Given the description of an element on the screen output the (x, y) to click on. 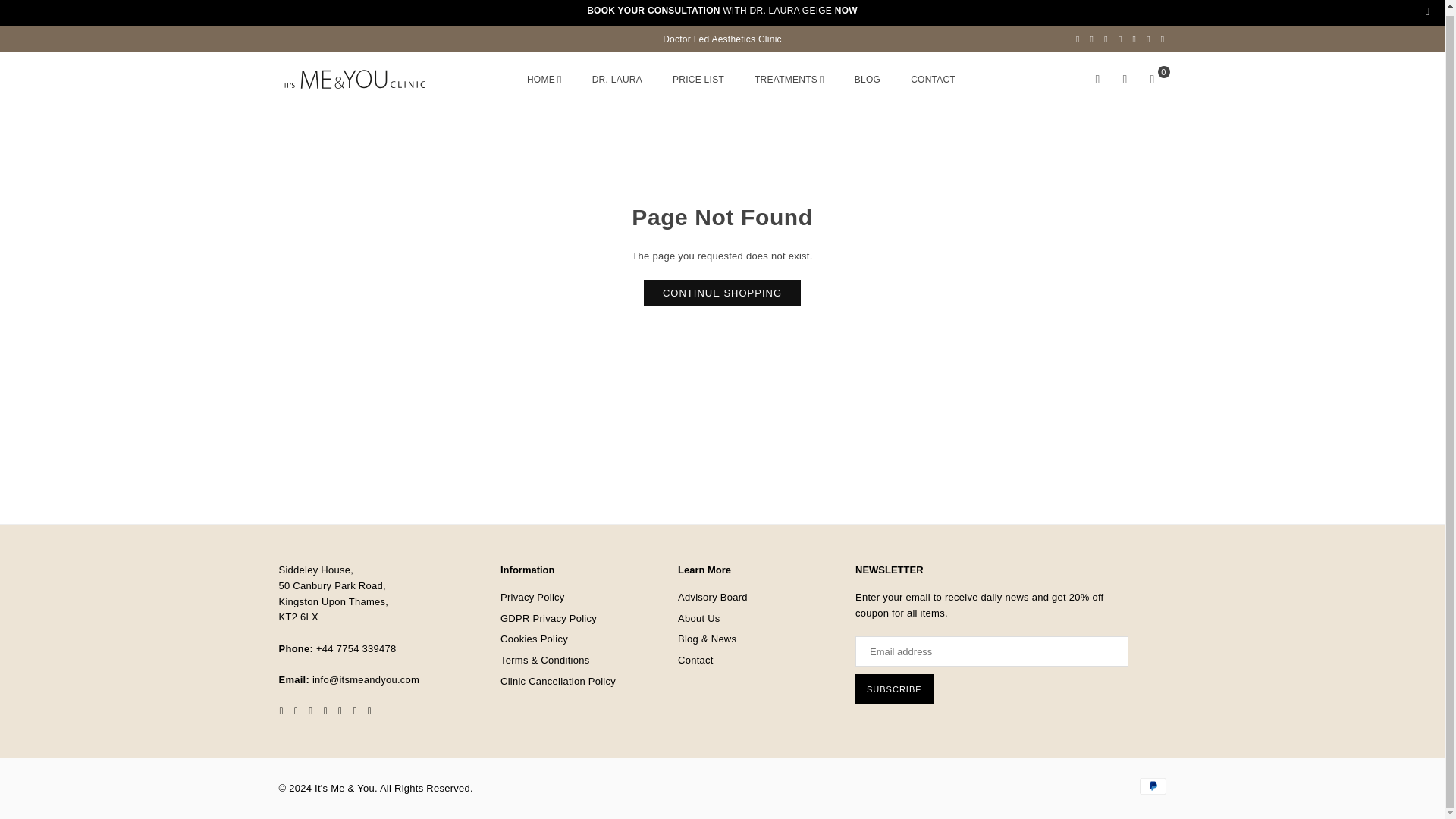
Wishlist (1125, 79)
PayPal (1152, 786)
TREATMENTS (788, 79)
BOOK YOUR CONSULTATION WITH DR. LAURA GEIGE NOW (721, 9)
Facebook (1077, 39)
DR. LAURA (616, 79)
Instagram (1119, 39)
Pinterest (1106, 39)
PRICE LIST (698, 79)
Whatsapp (1163, 39)
